Given the description of an element on the screen output the (x, y) to click on. 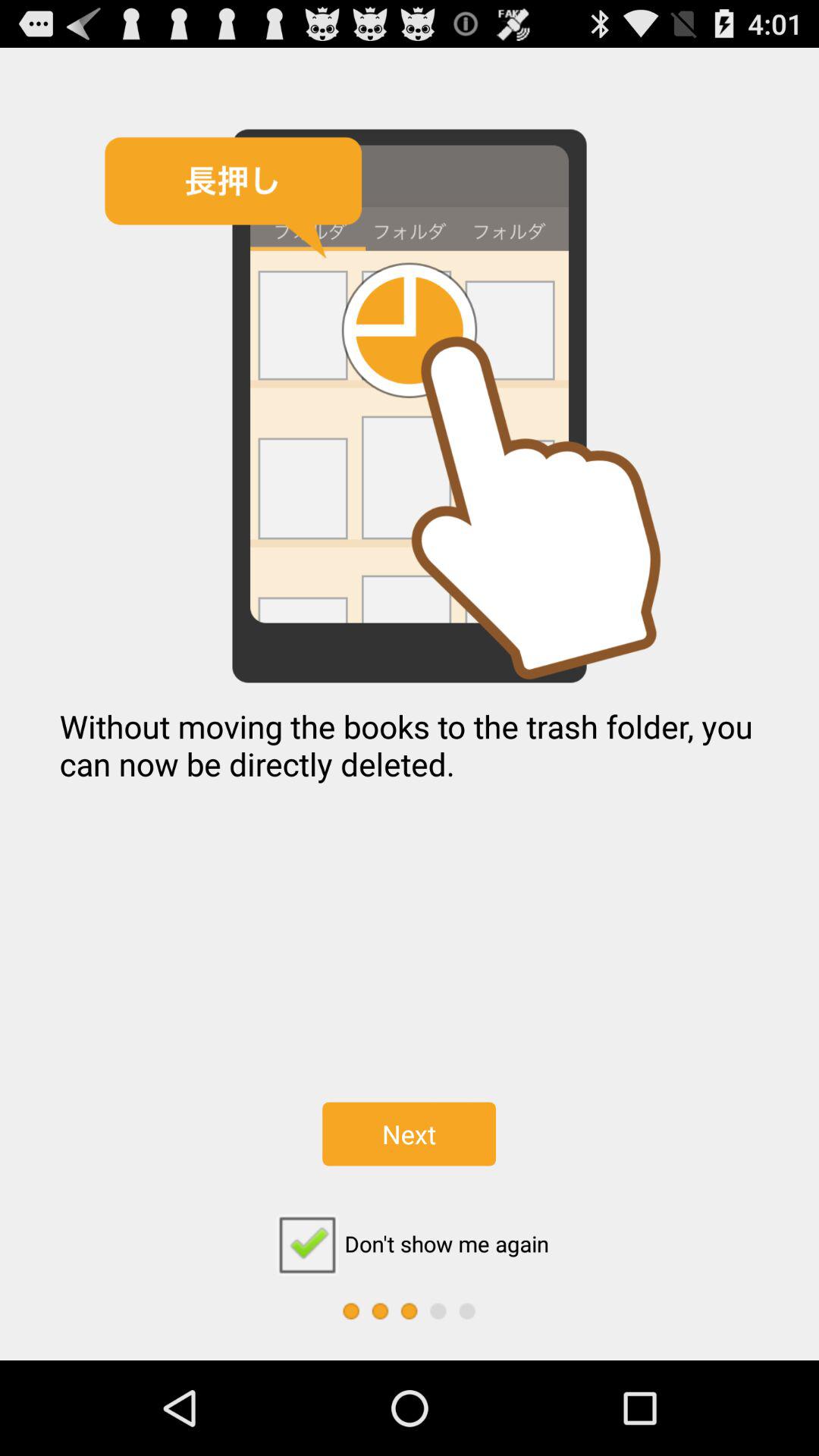
tap the don t show icon (409, 1243)
